Given the description of an element on the screen output the (x, y) to click on. 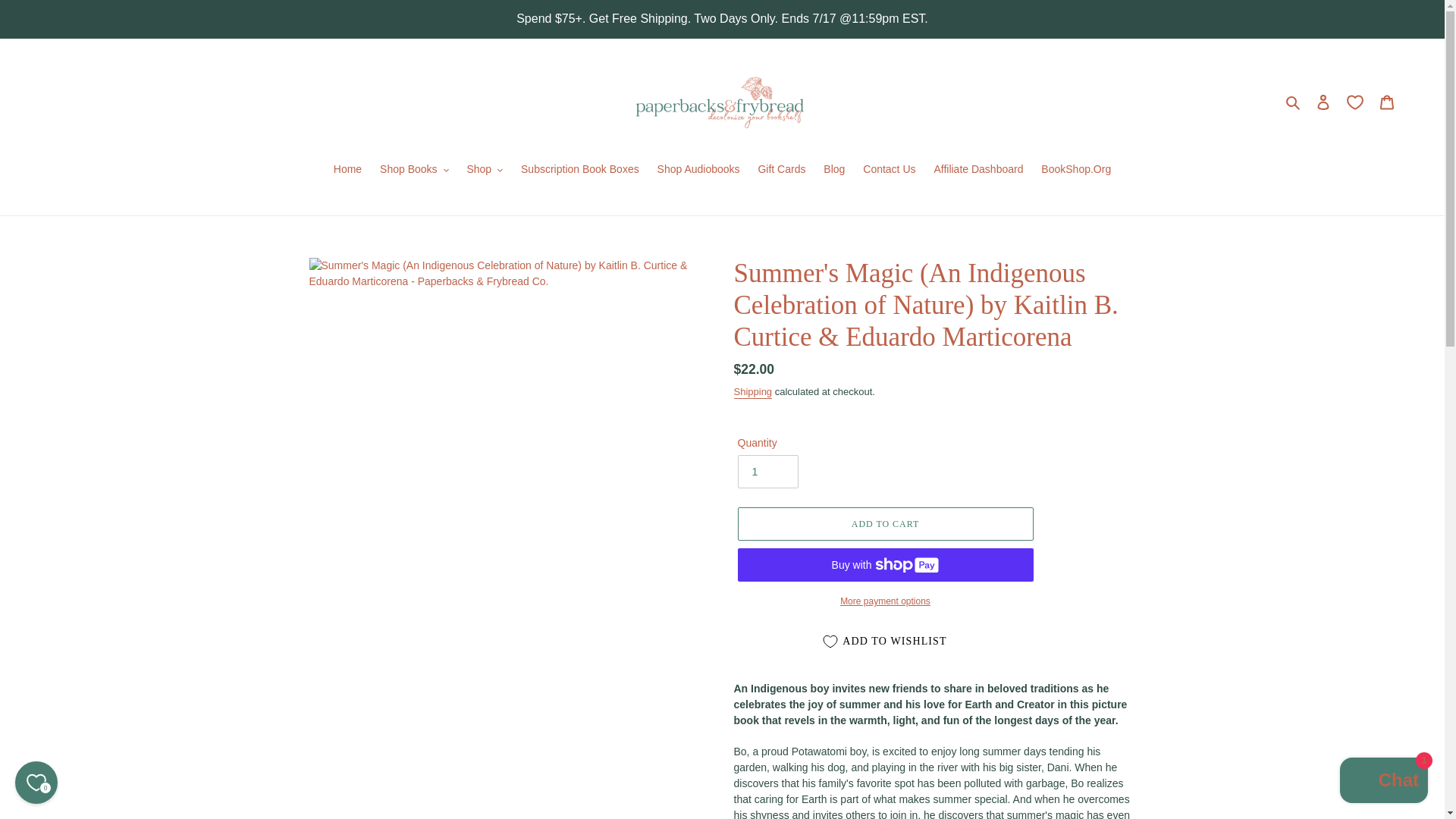
1 (766, 471)
Cart (1387, 101)
Log in (1323, 101)
Shopify online store chat (1383, 781)
Search (1294, 101)
